Given the description of an element on the screen output the (x, y) to click on. 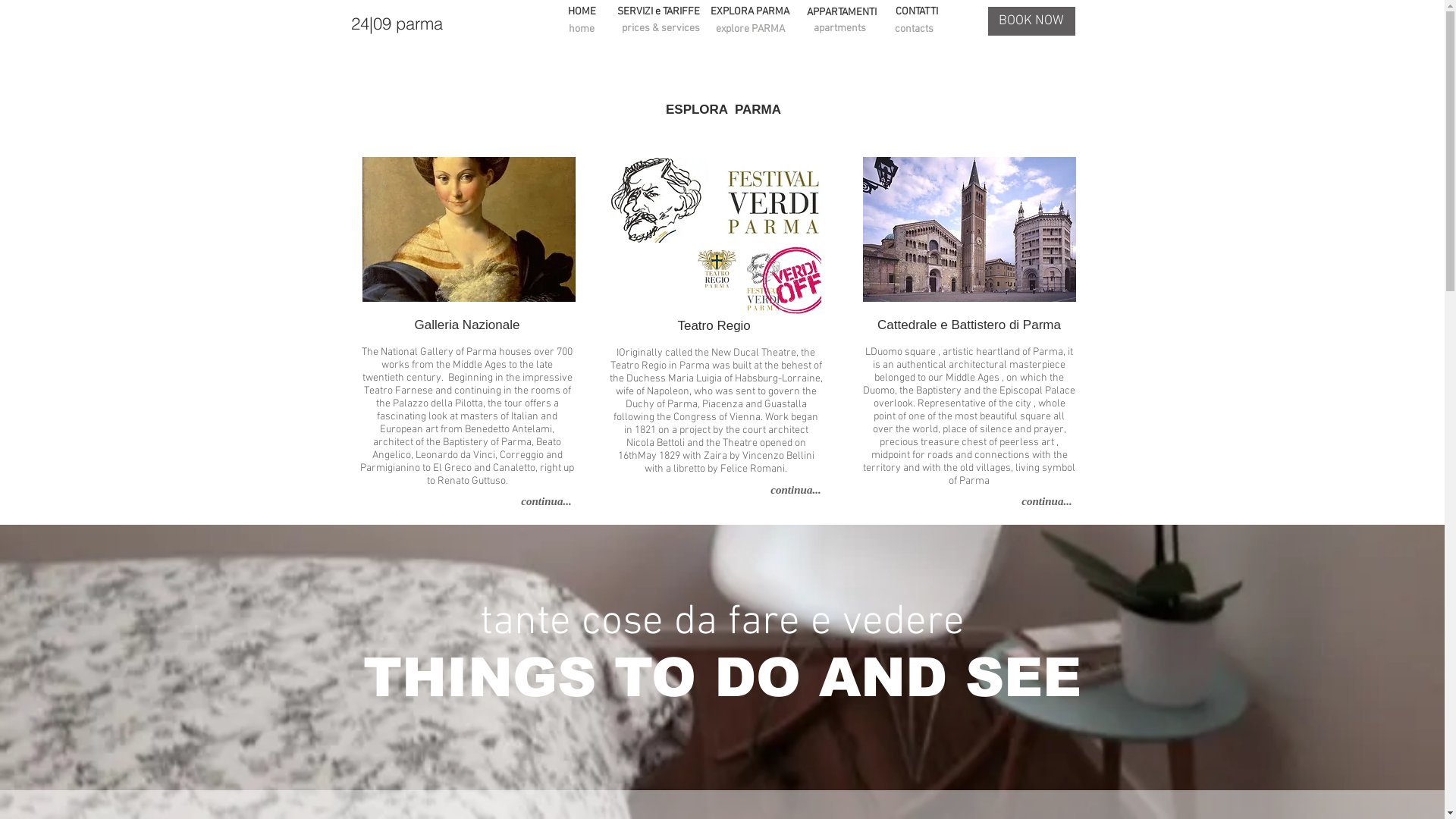
apartments Element type: text (839, 28)
BOOK NOW Element type: text (1030, 20)
continua... Element type: text (1046, 501)
24|09 parma Element type: text (396, 23)
APPARTAMENTI Element type: text (840, 12)
prices & services Element type: text (660, 28)
CONTATTI Element type: text (915, 11)
continua... Element type: text (795, 490)
logo.png Element type: hover (716, 268)
EXPLORA PARMA Element type: text (749, 11)
duomo-e-battistero.jpg Element type: hover (969, 228)
logo.png Element type: hover (783, 279)
contacts Element type: text (913, 29)
home Element type: text (580, 29)
HOME Element type: text (580, 11)
prova_schiava-326x418.jpg Element type: hover (468, 228)
explore PARMA Element type: text (749, 29)
SERVIZI e TARIFFE Element type: text (657, 11)
Festival verdi parma.jpg Element type: hover (717, 199)
continua... Element type: text (546, 501)
